Given the description of an element on the screen output the (x, y) to click on. 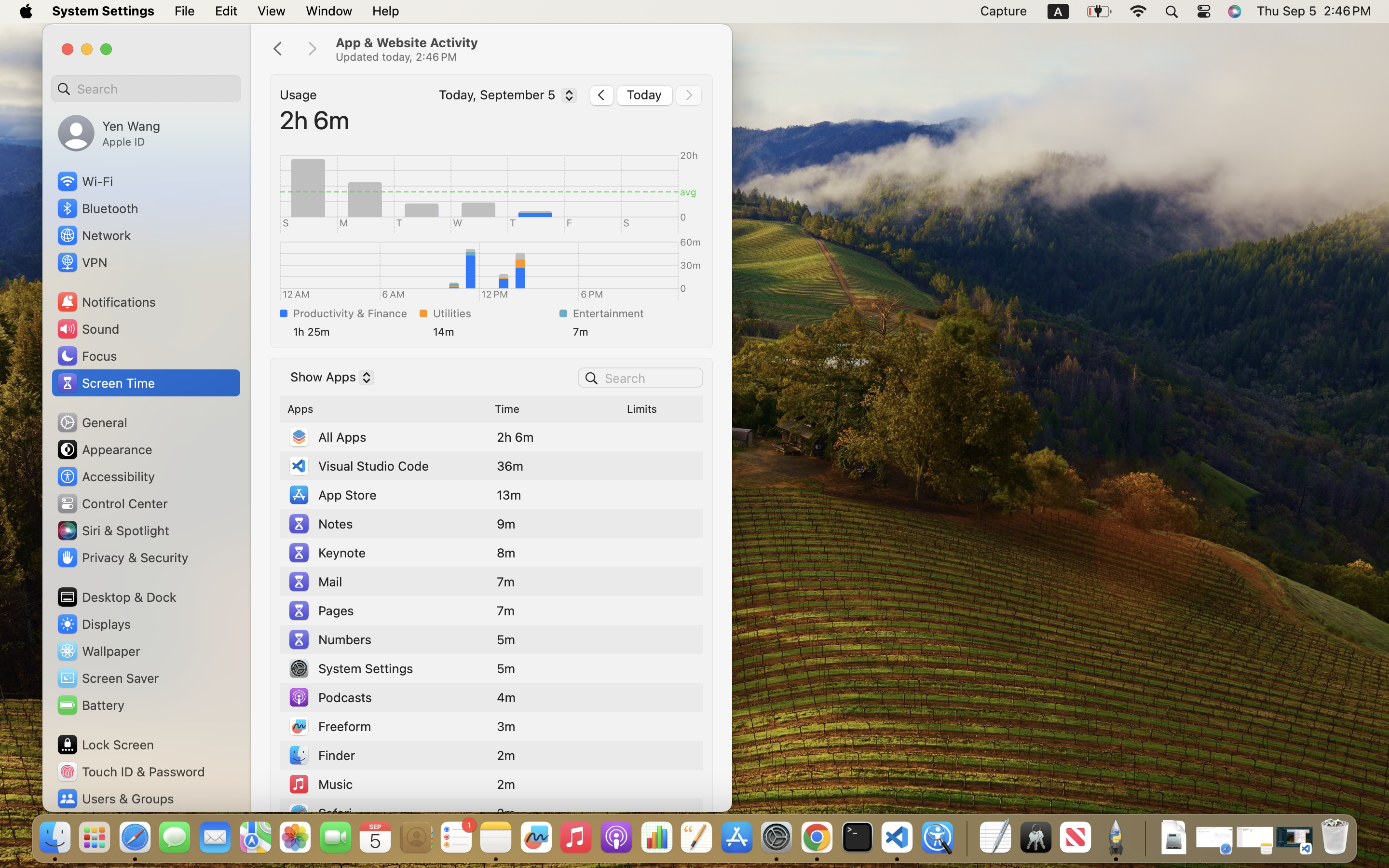
8m Element type: AXStaticText (505, 552)
0.4285714328289032 Element type: AXDockItem (965, 837)
Pages Element type: AXStaticText (320, 610)
Keynote Element type: AXStaticText (326, 552)
Today, September 5 Element type: AXPopUpButton (505, 96)
